Given the description of an element on the screen output the (x, y) to click on. 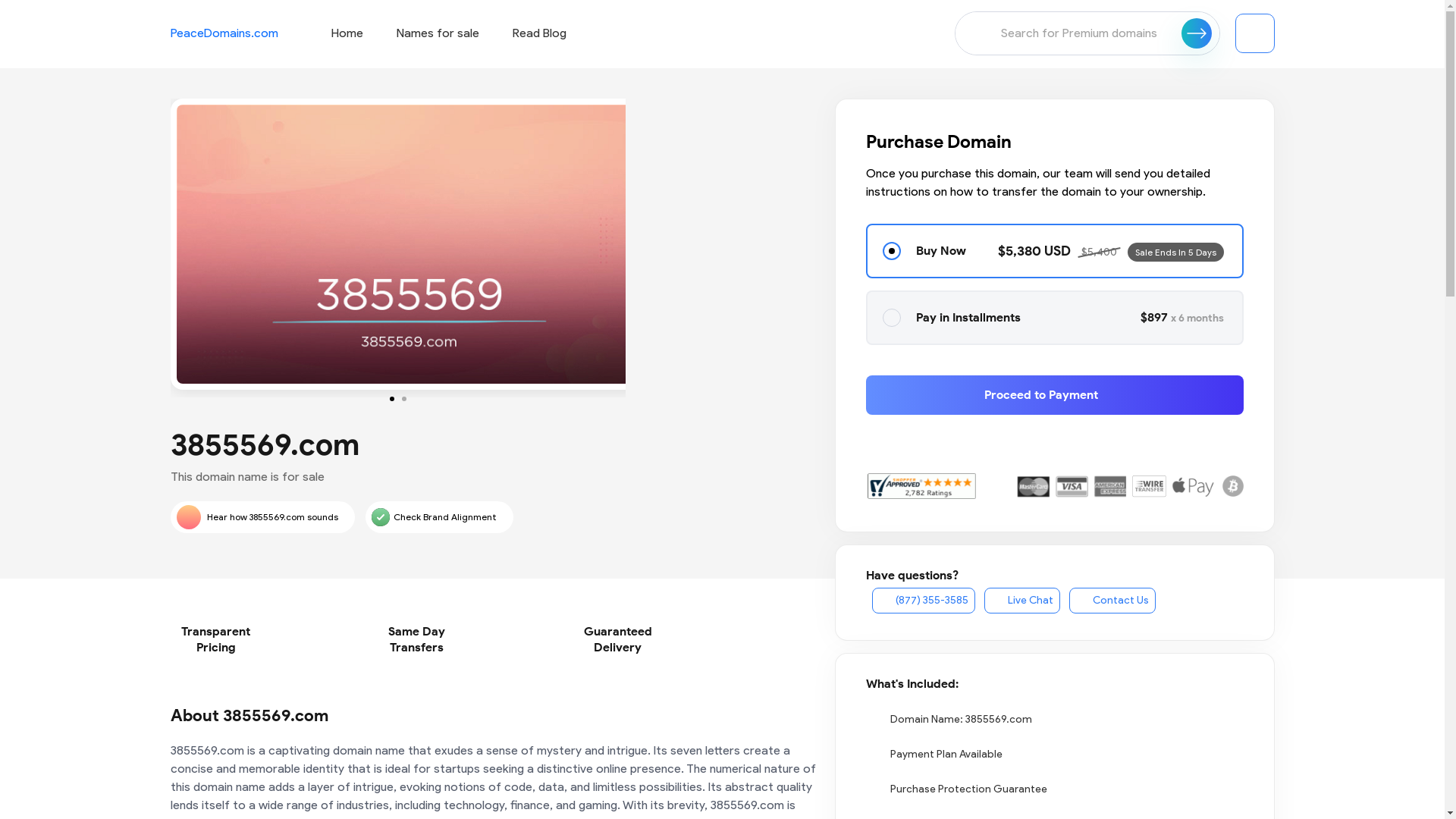
Home Element type: text (346, 33)
Read Blog Element type: text (539, 33)
Check Brand Alignment Element type: text (439, 517)
Buy Now
$5,380 USD $5,400 Sale Ends In 5 Days Element type: text (1054, 250)
PeaceDomains.com Element type: text (223, 33)
Live Chat Element type: text (1022, 600)
Names for sale Element type: text (436, 33)
Contact Us Element type: text (1112, 600)
Proceed to Payment Element type: text (1054, 394)
(877) 355-3585 Element type: text (923, 600)
Hear how 3855569.com sounds Element type: text (261, 517)
